Given the description of an element on the screen output the (x, y) to click on. 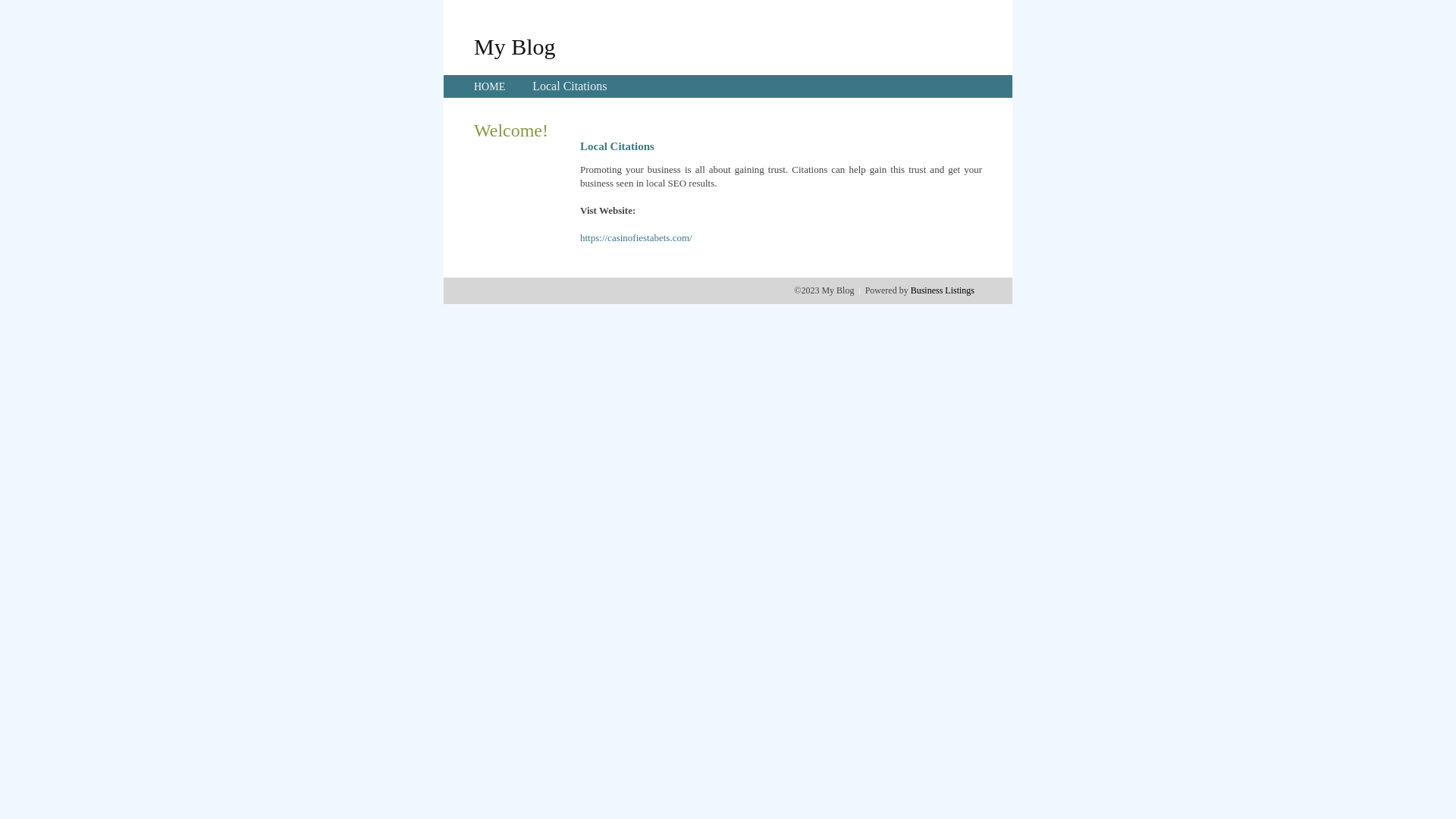
Local Citations Element type: text (569, 85)
Business Listings Element type: text (942, 290)
HOME Element type: text (489, 86)
https://casinofiestabets.com/ Element type: text (636, 237)
My Blog Element type: text (514, 46)
